Given the description of an element on the screen output the (x, y) to click on. 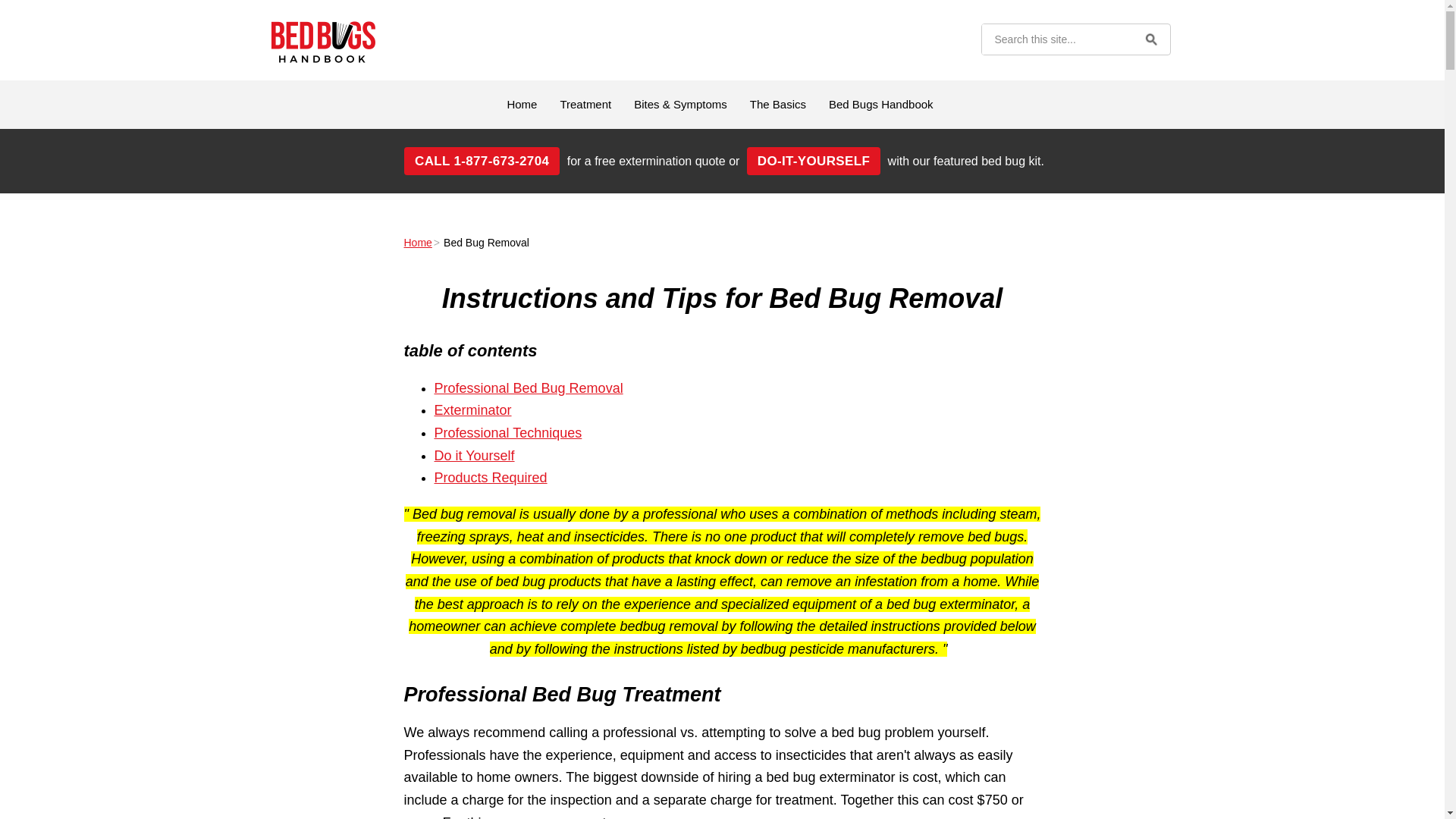
Home (416, 242)
Go (1150, 39)
My Website (321, 41)
Go (1150, 39)
Search this site... (1056, 39)
Exterminator (472, 409)
DO-IT-YOURSELF (813, 161)
Professional Bed Bug Removal (528, 387)
Professional Techniques (506, 432)
Do it Yourself (473, 455)
